Given the description of an element on the screen output the (x, y) to click on. 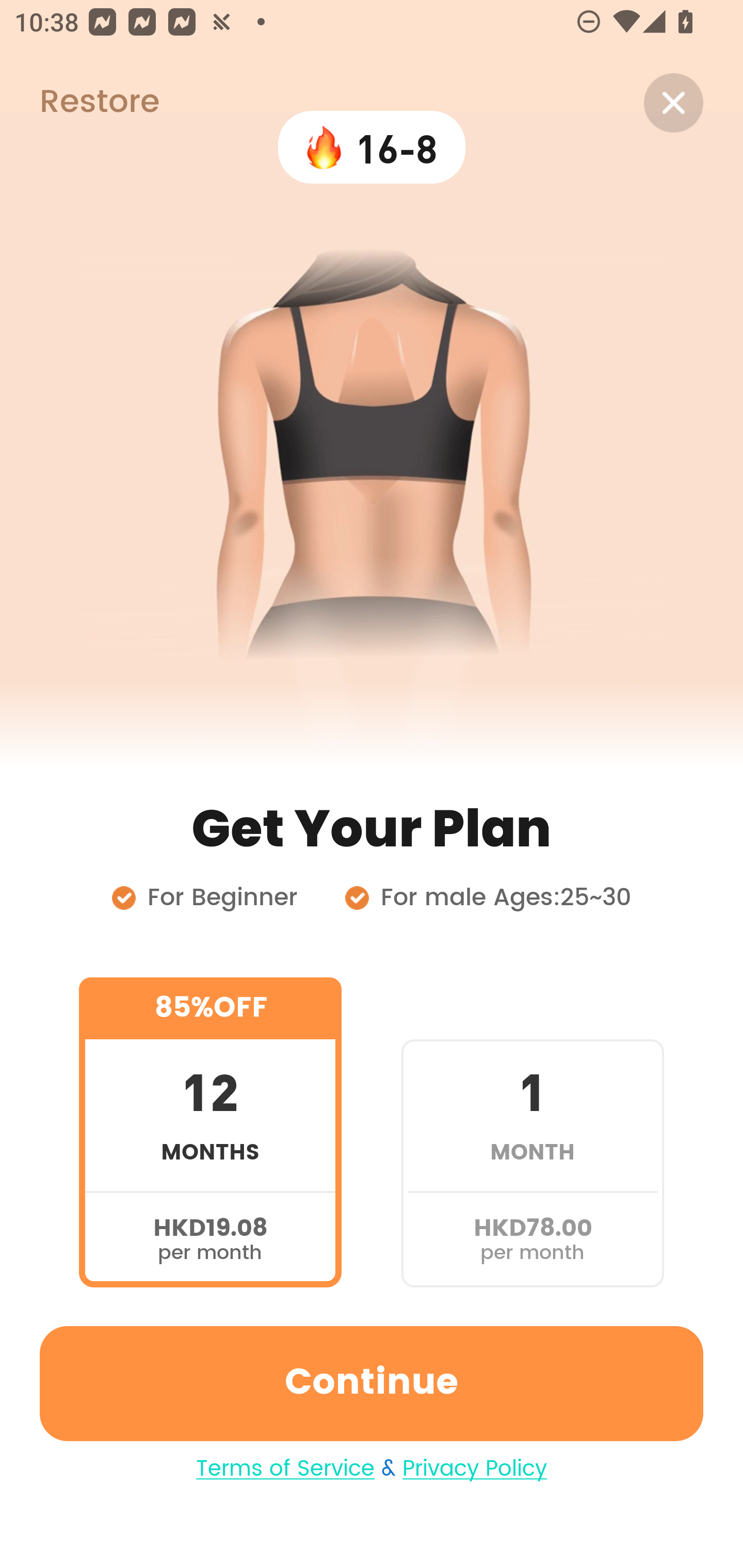
Restore (79, 102)
85%OFF 12 MONTHS per month HKD19.08 (209, 1131)
1 MONTH per month HKD78.00 (532, 1131)
Continue (371, 1383)
